Given the description of an element on the screen output the (x, y) to click on. 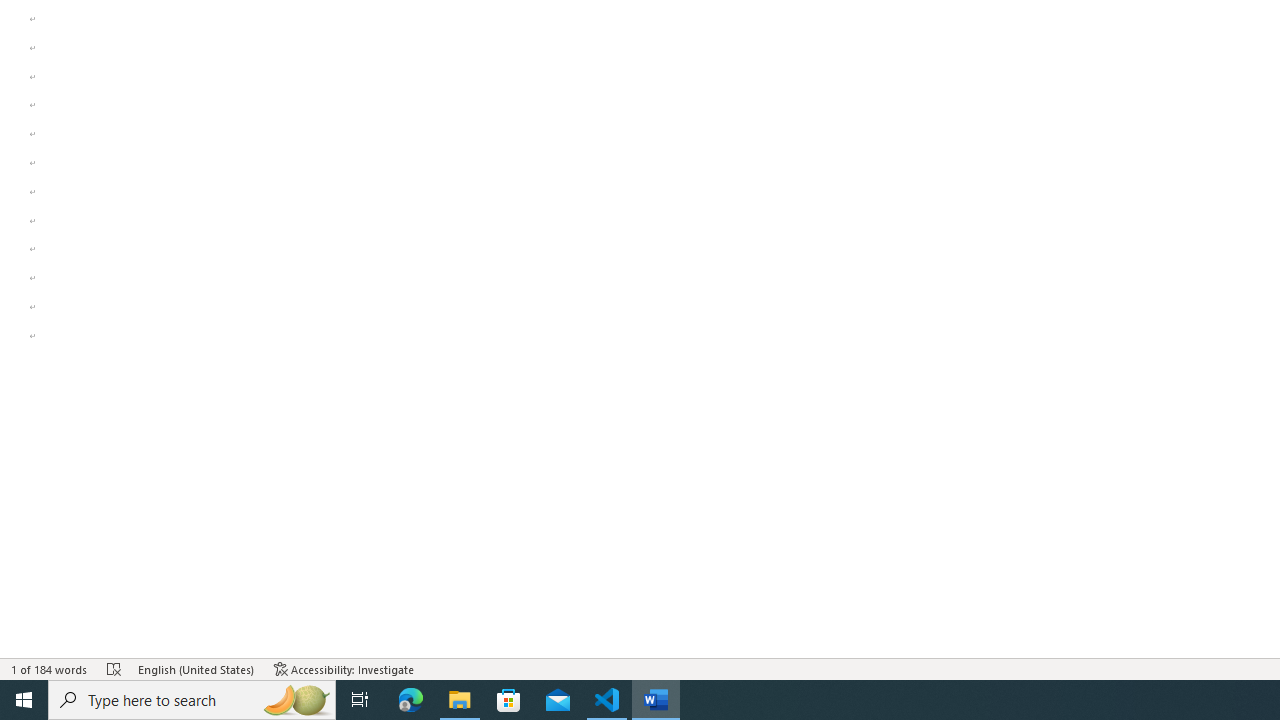
Word Count 1 of 184 words (49, 668)
